Given the description of an element on the screen output the (x, y) to click on. 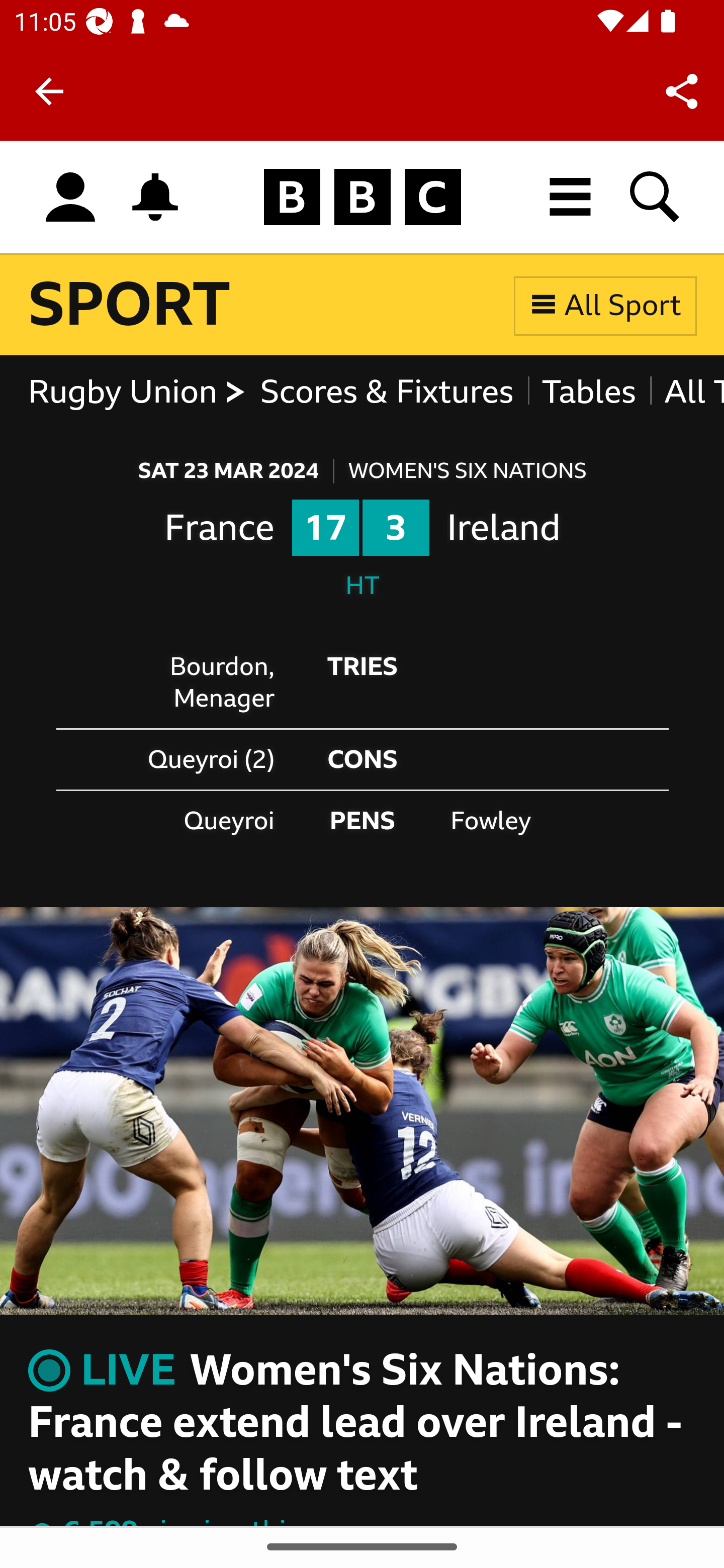
Back (49, 91)
Share (681, 90)
Notifications (155, 197)
All BBC destinations menu (570, 197)
Search BBC (655, 197)
Sign in (70, 198)
Homepage (361, 198)
BBC SPORT BBC SPORT (130, 304)
 All Sport (604, 304)
Rugby Union  (137, 392)
Scores & Fixtures (385, 392)
Tables (587, 392)
